Given the description of an element on the screen output the (x, y) to click on. 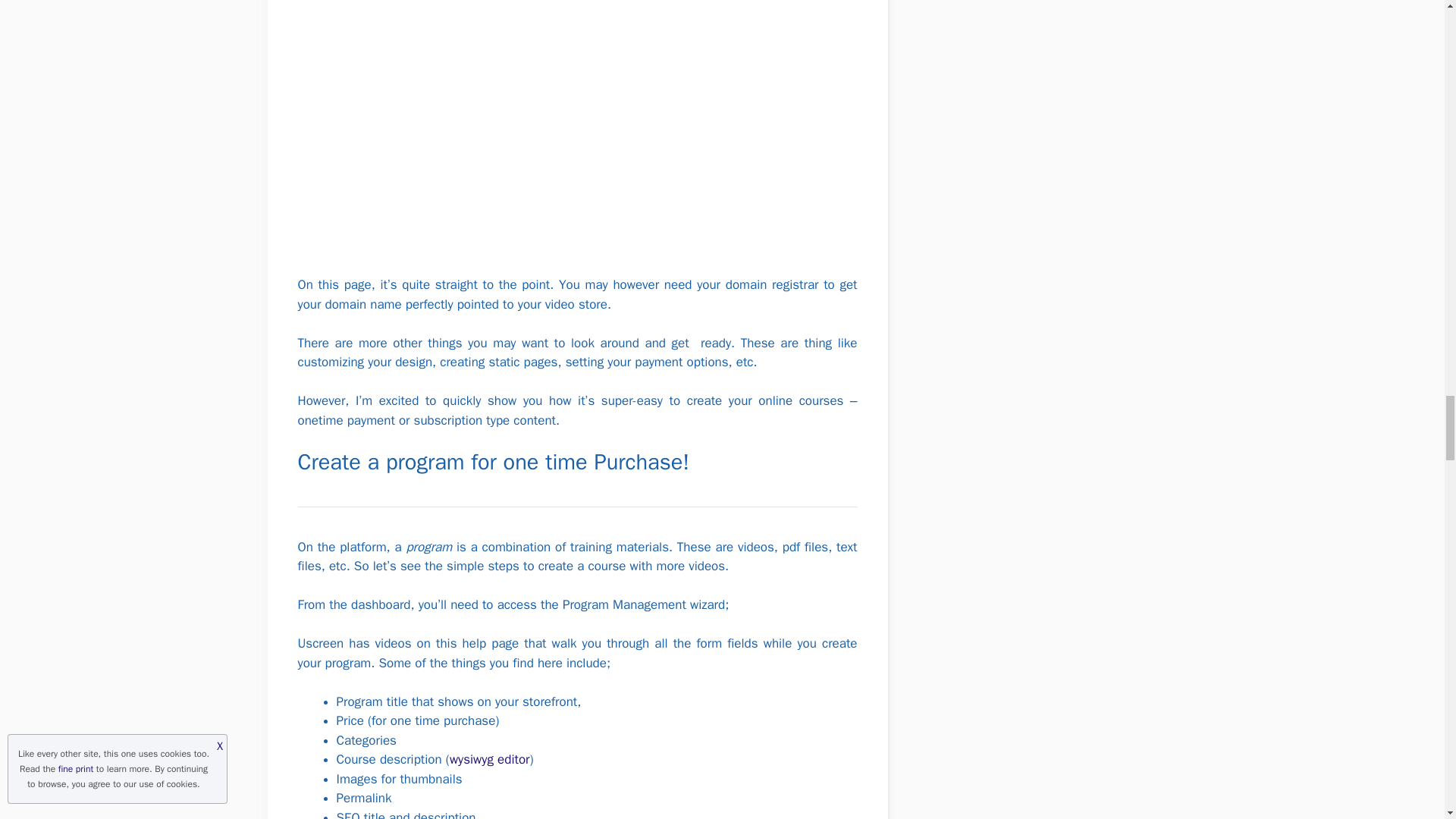
wysiwyg editor (489, 759)
